Given the description of an element on the screen output the (x, y) to click on. 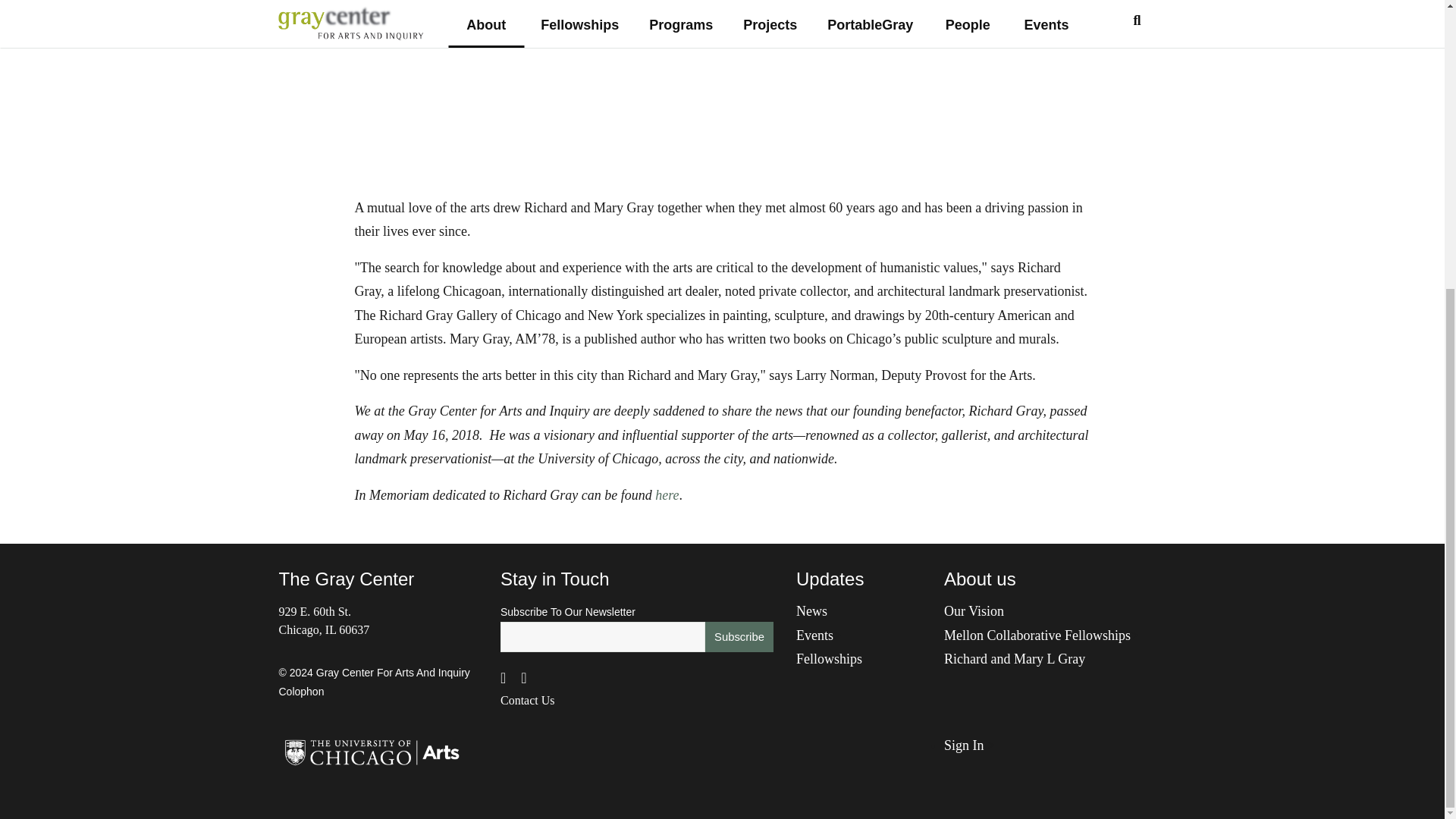
Contact Us (527, 700)
Richard and Mary L. Gray - A Life of Art (707, 92)
here (666, 494)
Events (814, 634)
News (811, 611)
Colophon (301, 691)
Fellowships (828, 658)
Richard and Mary L Gray (1013, 658)
Mellon Collaborative Fellowships (1037, 634)
Our Vision (973, 611)
